Given the description of an element on the screen output the (x, y) to click on. 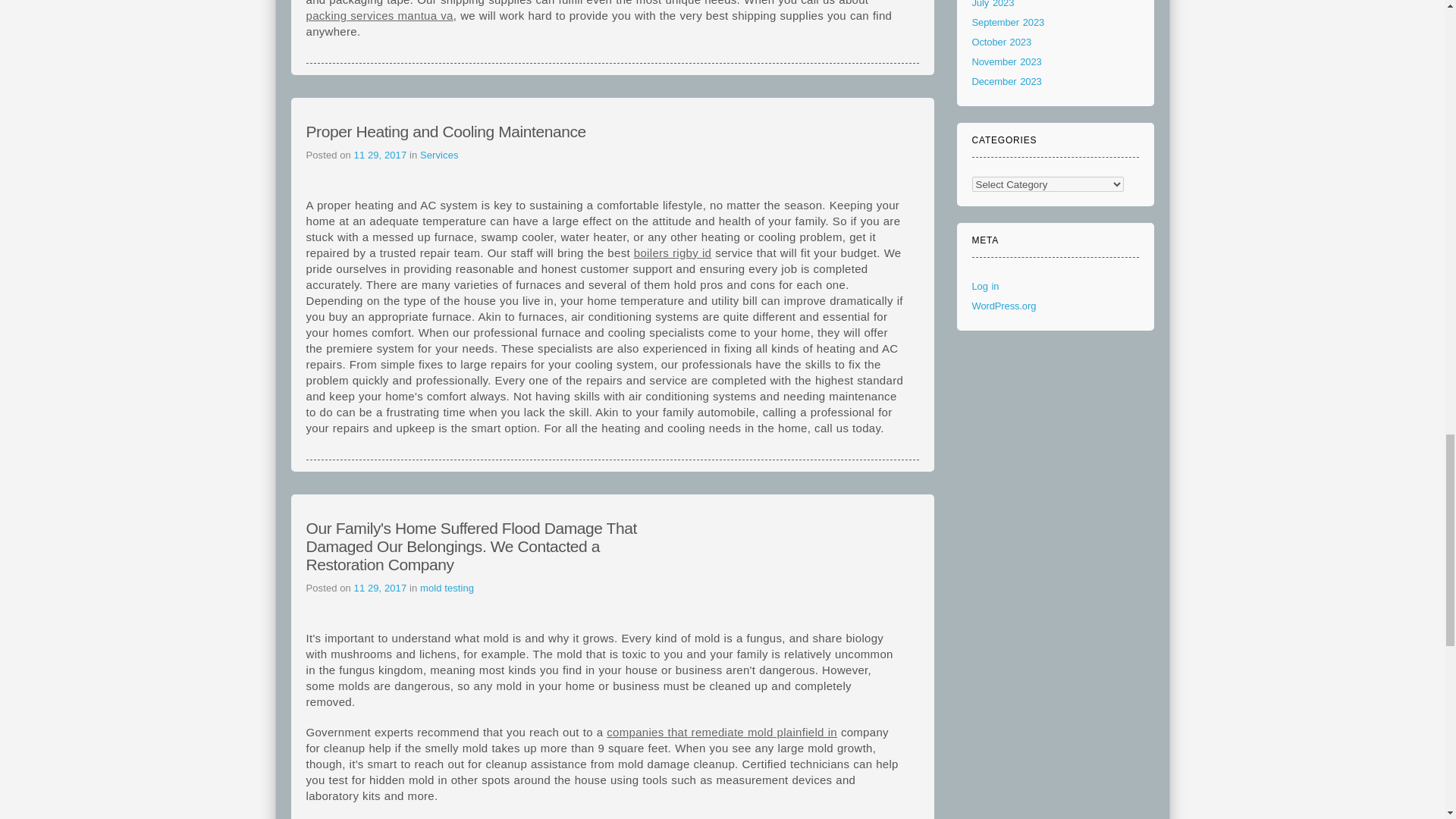
packing services mantua va (378, 15)
Services (439, 154)
11 29, 2017  (381, 587)
View all posts in mold testing (447, 587)
companies that remediate mold plainfield in (722, 731)
mold testing (447, 587)
boilers rigby id (672, 252)
11 29, 2017  (381, 154)
